Given the description of an element on the screen output the (x, y) to click on. 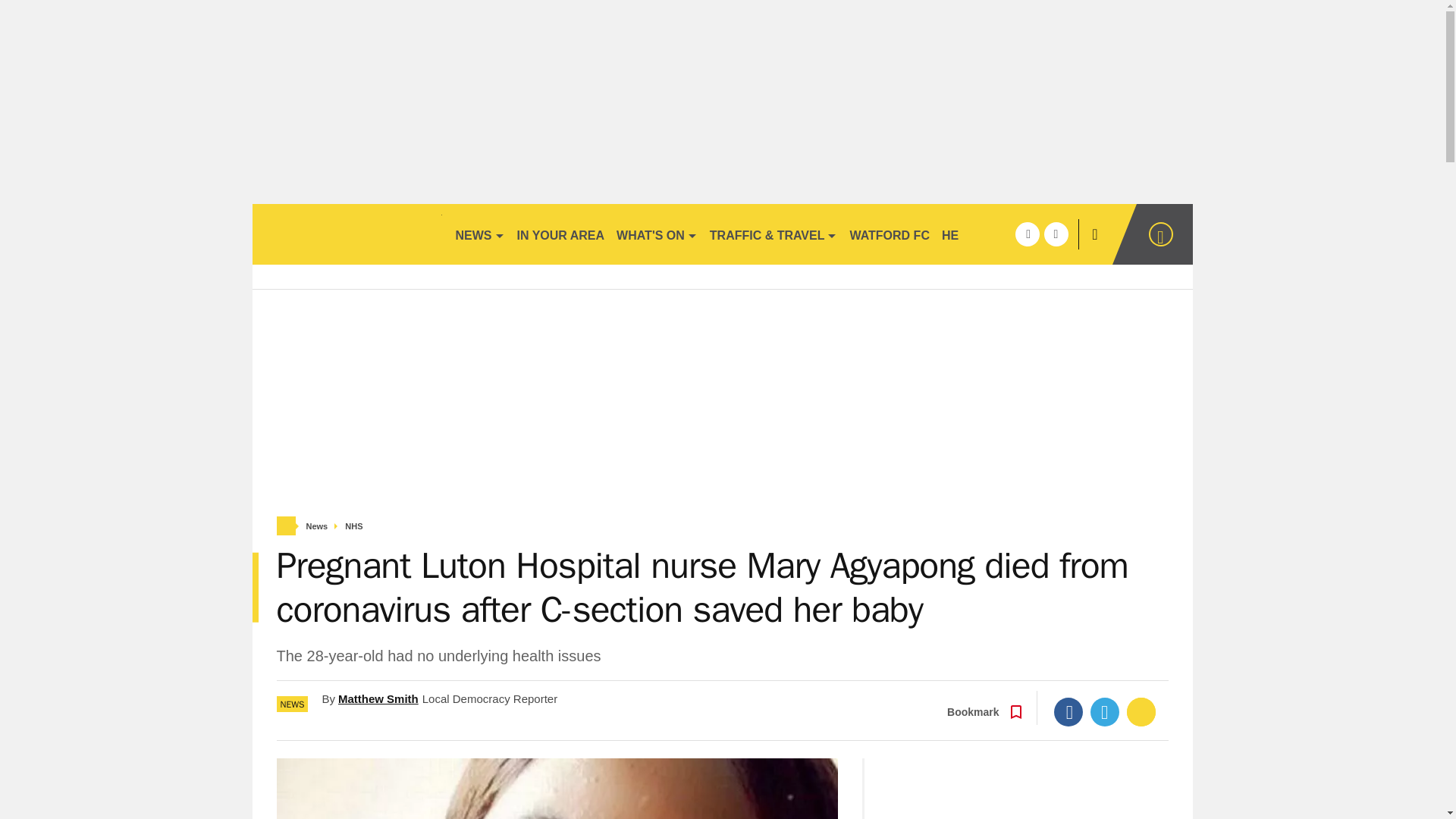
hertfordshiremercury (346, 233)
WHAT'S ON (656, 233)
twitter (1055, 233)
HEMEL HEMPSTEAD (1003, 233)
Facebook (1068, 711)
Twitter (1104, 711)
WATFORD FC (888, 233)
IN YOUR AREA (561, 233)
NEWS (479, 233)
facebook (1026, 233)
